Given the description of an element on the screen output the (x, y) to click on. 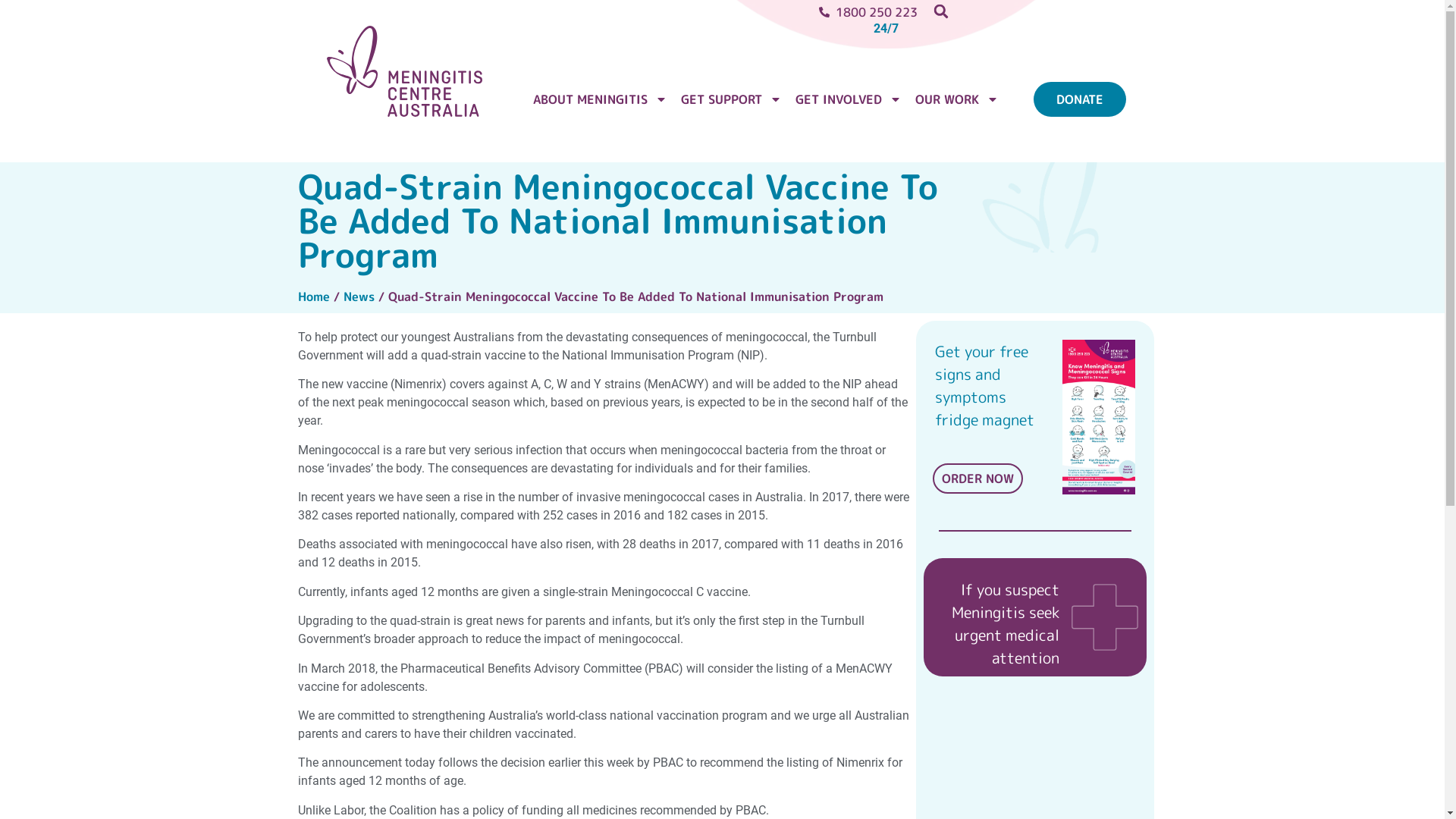
Home Element type: text (313, 296)
OUR WORK Element type: text (956, 98)
GET INVOLVED Element type: text (848, 98)
DONATE Element type: text (1079, 98)
GET SUPPORT Element type: text (731, 98)
1800 250 223 Element type: text (770, 12)
ORDER NOW Element type: text (977, 478)
News Element type: text (357, 296)
ABOUT MENINGITIS Element type: text (600, 98)
